Given the description of an element on the screen output the (x, y) to click on. 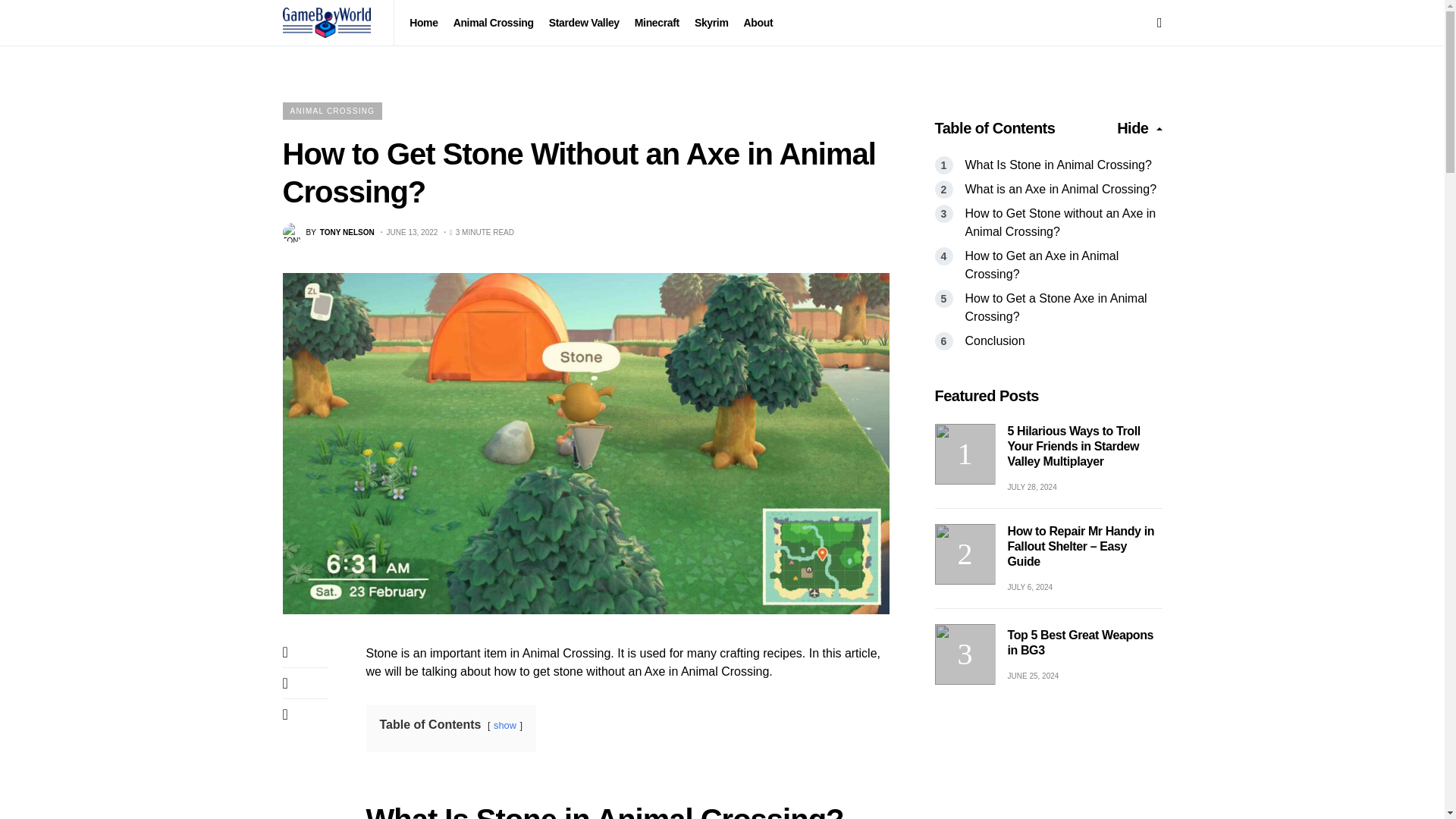
View all posts by Tony Nelson (328, 232)
Stardew Valley (328, 232)
show (584, 22)
ANIMAL CROSSING (504, 725)
Minecraft (331, 110)
Animal Crossing (656, 22)
